Given the description of an element on the screen output the (x, y) to click on. 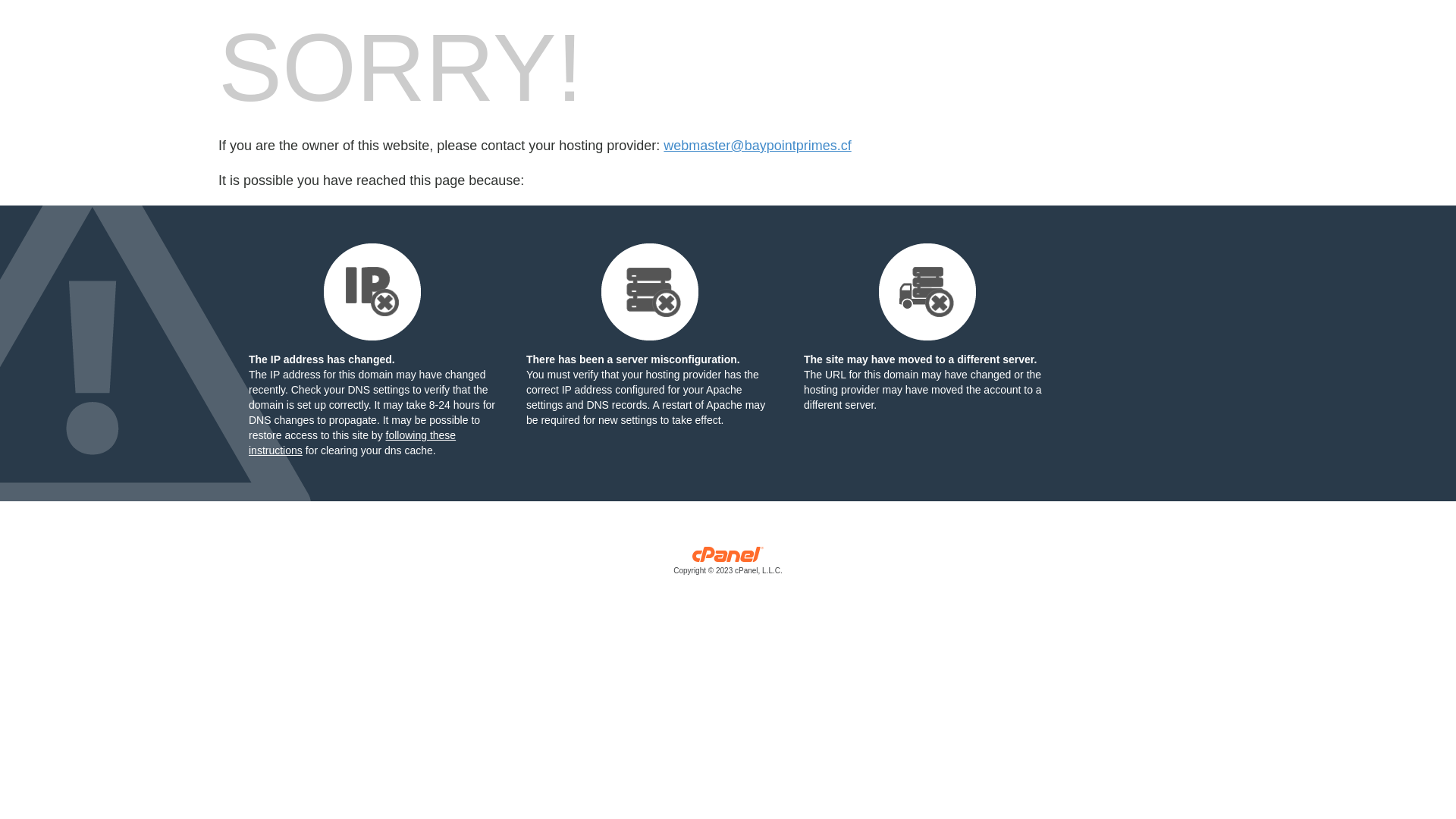
webmaster@baypointprimes.cf Element type: text (756, 145)
following these instructions Element type: text (351, 442)
